Given the description of an element on the screen output the (x, y) to click on. 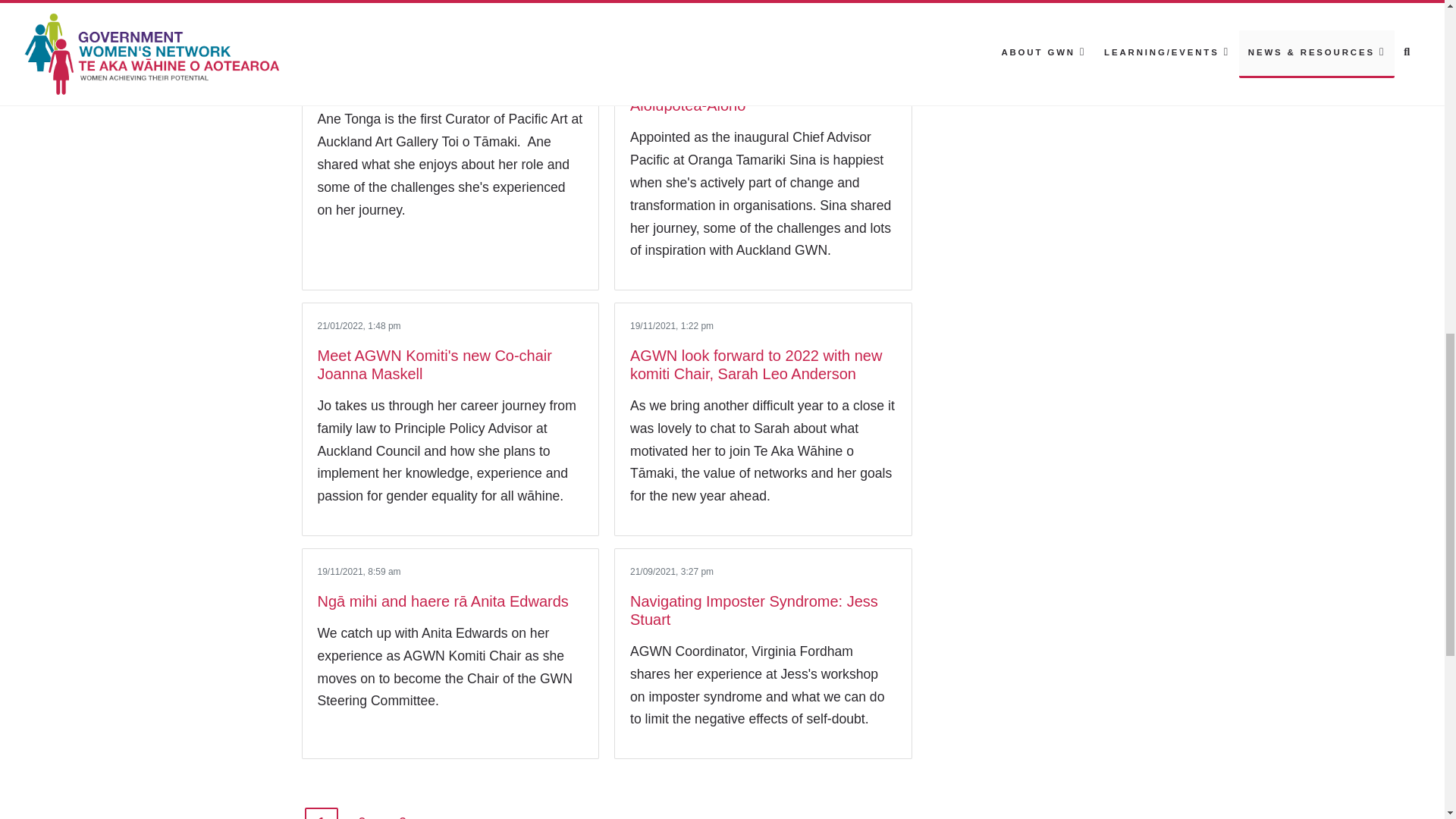
Read more about 'AGWN Profile: Ane Tonga'... (404, 86)
